Given the description of an element on the screen output the (x, y) to click on. 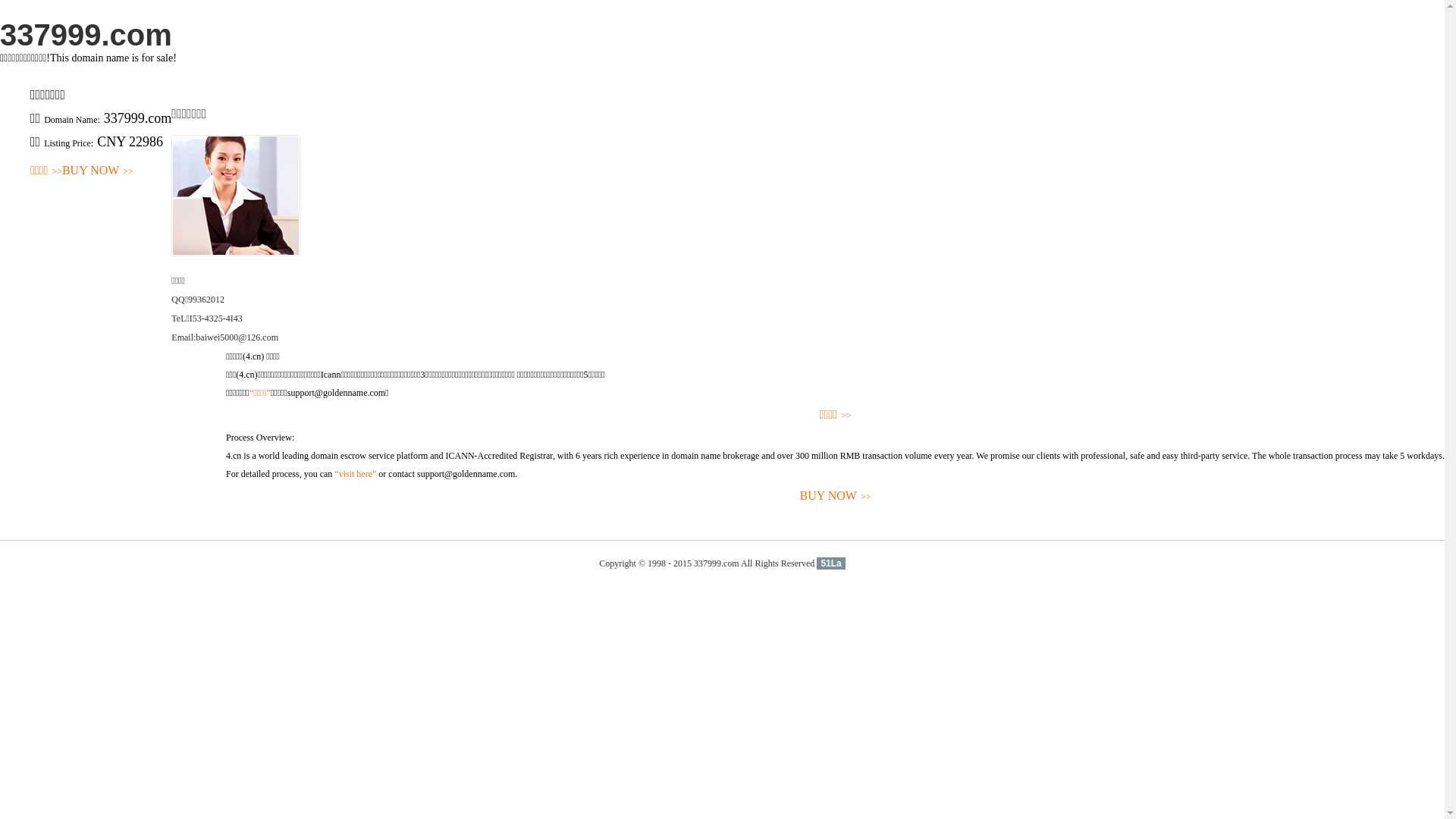
BUY NOW>> Element type: text (97, 170)
BUY NOW>> Element type: text (834, 496)
51La Element type: text (830, 563)
